Given the description of an element on the screen output the (x, y) to click on. 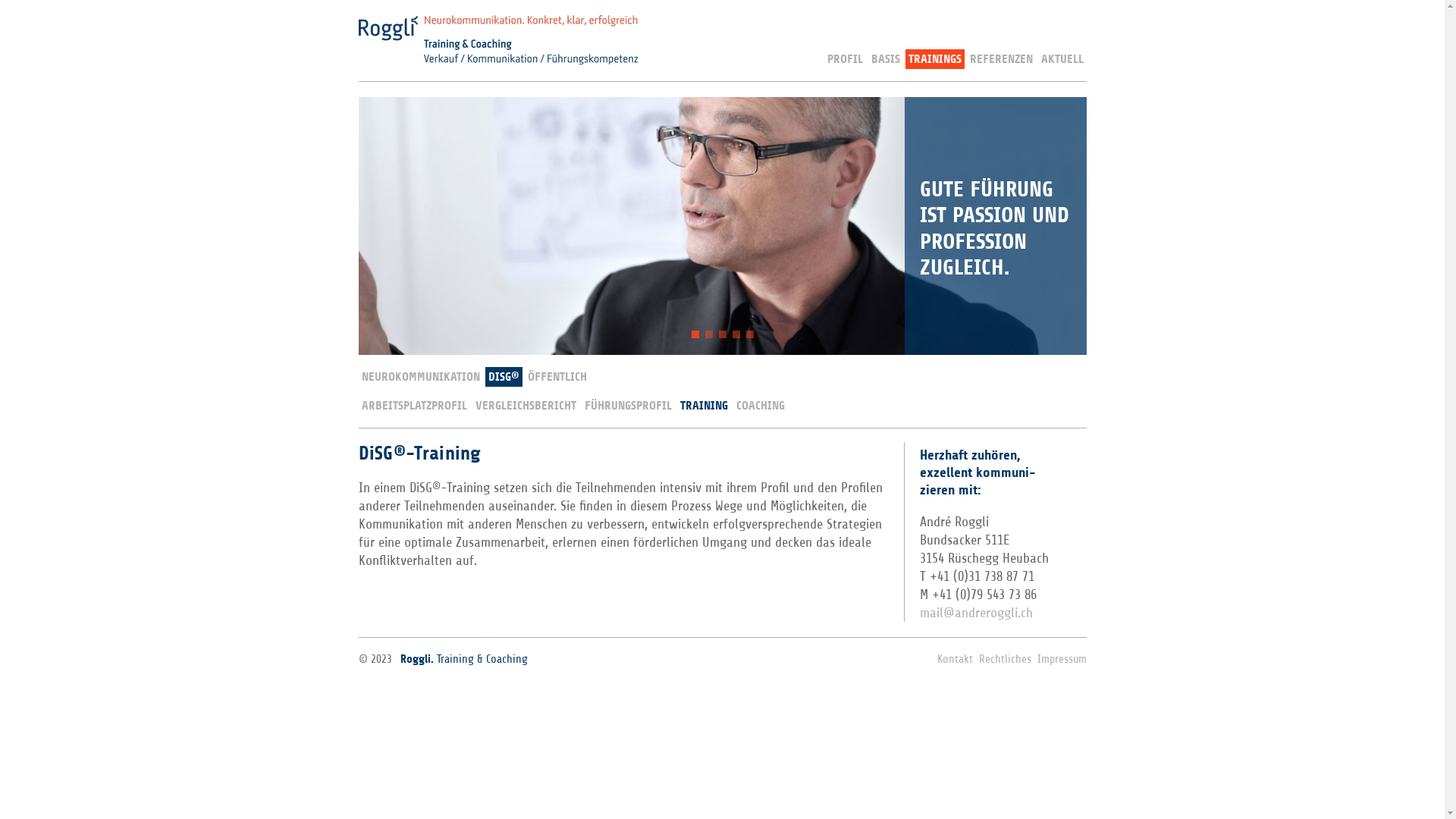
REFERENZEN Element type: text (1000, 59)
3 Element type: text (722, 334)
TRAINING Element type: text (703, 405)
AKTUELL Element type: text (1061, 59)
mail@andreroggli.ch Element type: text (975, 612)
COACHING Element type: text (759, 405)
Rechtliches Element type: text (1004, 658)
5 Element type: text (749, 334)
NEUROKOMMUNIKATION Element type: text (419, 376)
ARBEITSPLATZPROFIL Element type: text (413, 405)
Impressum Element type: text (1061, 658)
Kontakt Element type: text (954, 658)
VERGLEICHSBERICHT Element type: text (524, 405)
BASIS Element type: text (884, 59)
TRAININGS Element type: text (934, 59)
2 Element type: text (708, 334)
1 Element type: text (695, 334)
4 Element type: text (736, 334)
PROFIL Element type: text (844, 59)
